Given the description of an element on the screen output the (x, y) to click on. 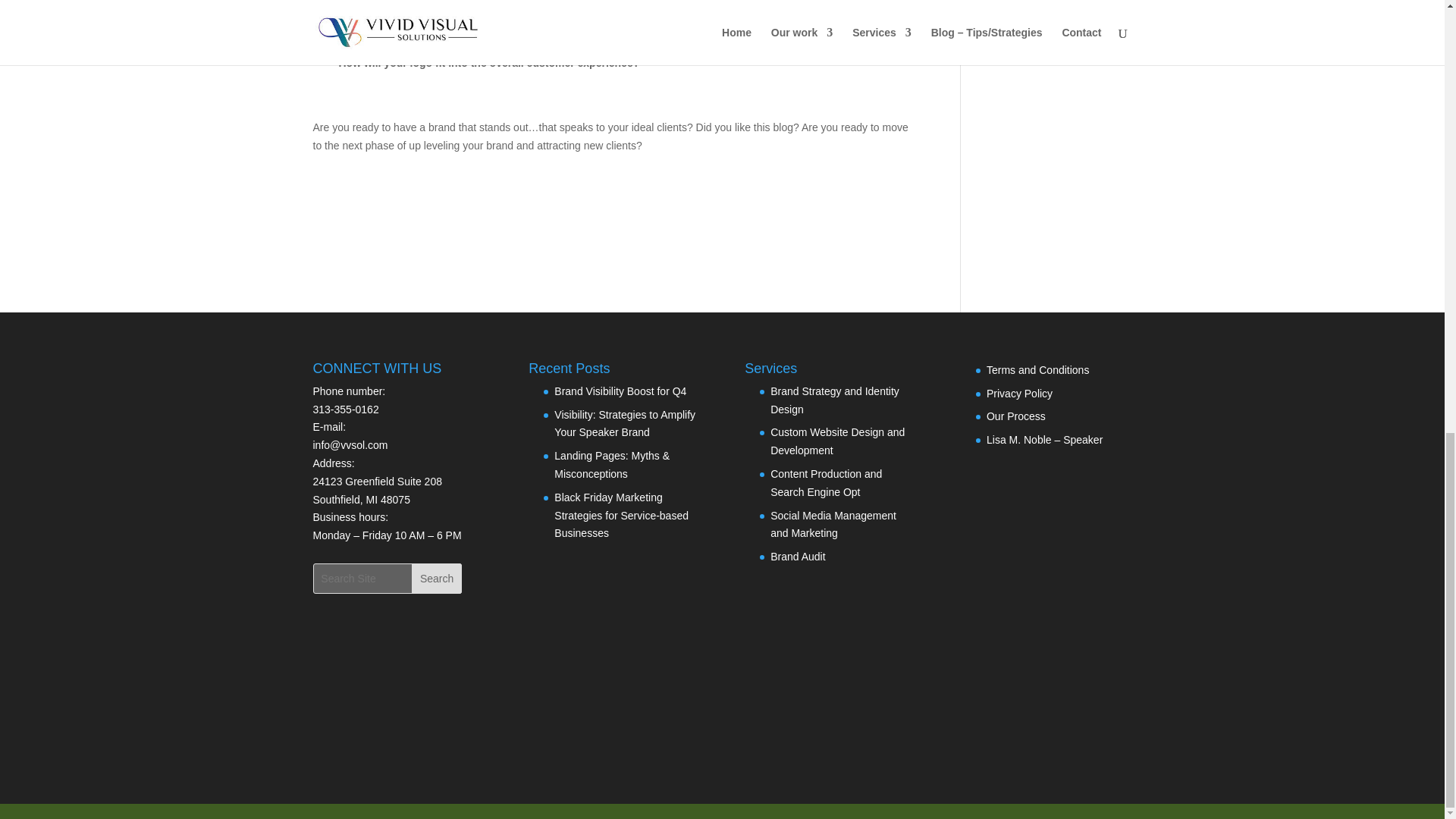
Brand Visibility Boost for Q4 (619, 390)
Visibility: Strategies to Amplify Your Speaker Brand (624, 423)
Custom Website Design and Development (837, 440)
Search (436, 578)
Brand Strategy and Identity Design (834, 399)
Content Production and Search Engine Opt (826, 482)
